Given the description of an element on the screen output the (x, y) to click on. 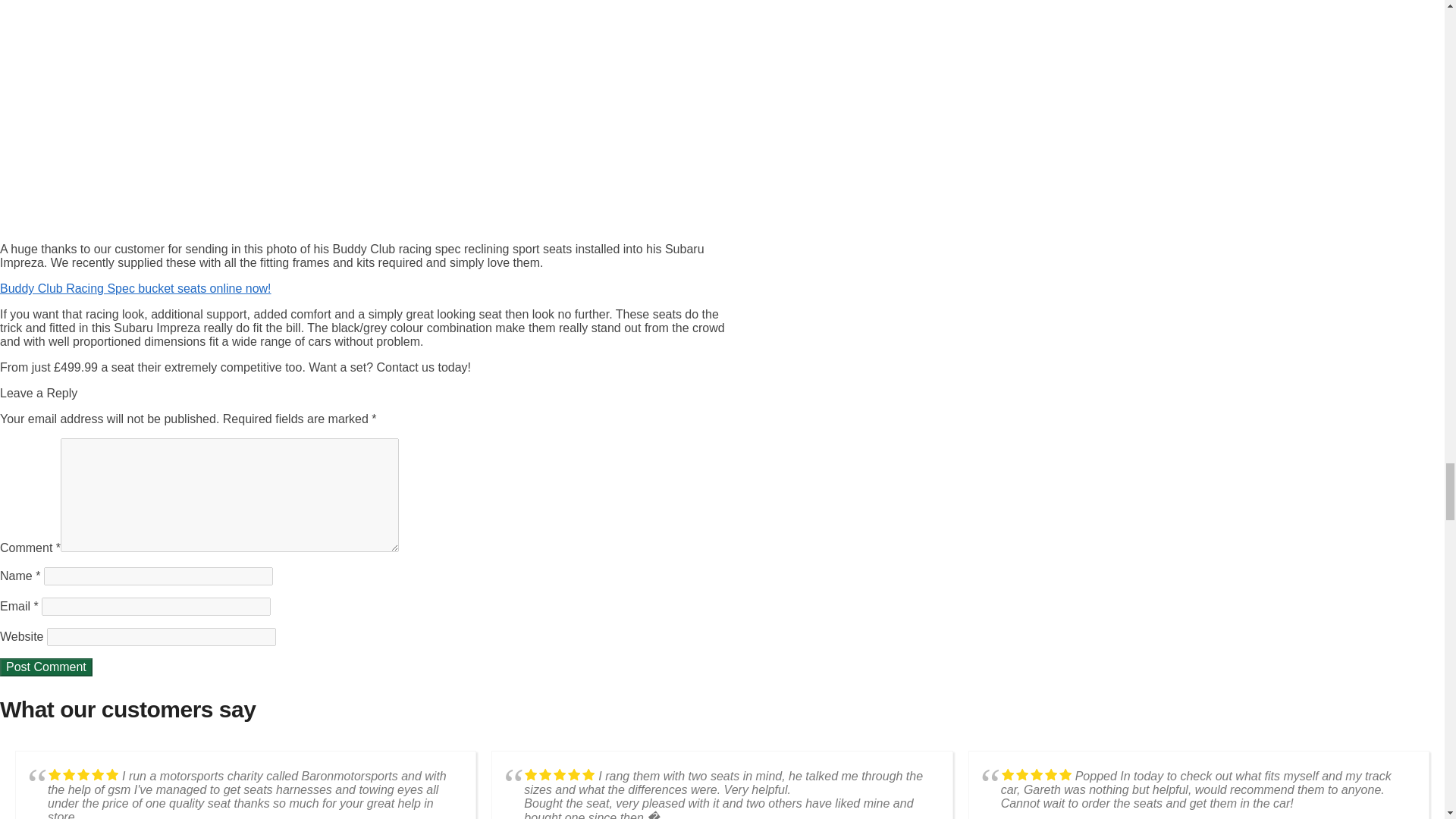
Post Comment (46, 667)
